Given the description of an element on the screen output the (x, y) to click on. 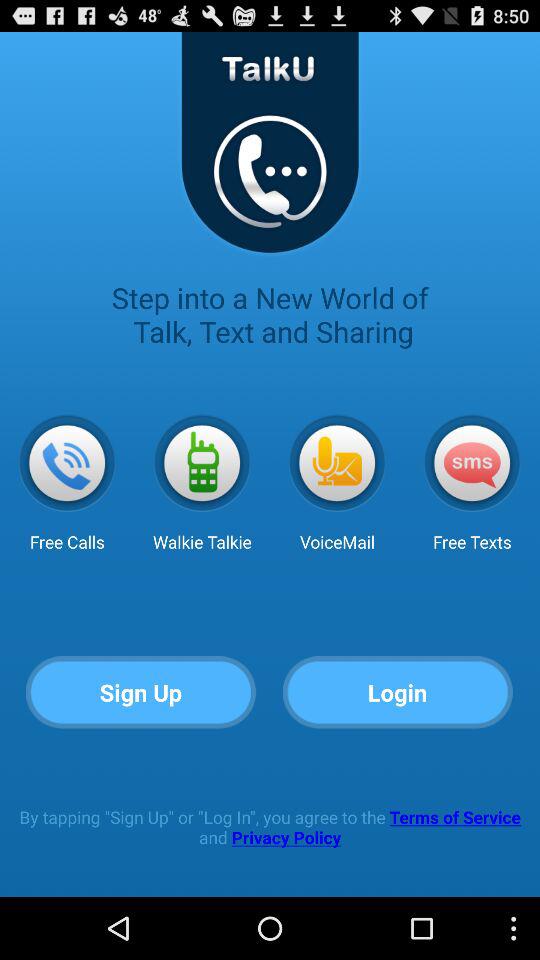
choose login item (398, 692)
